Given the description of an element on the screen output the (x, y) to click on. 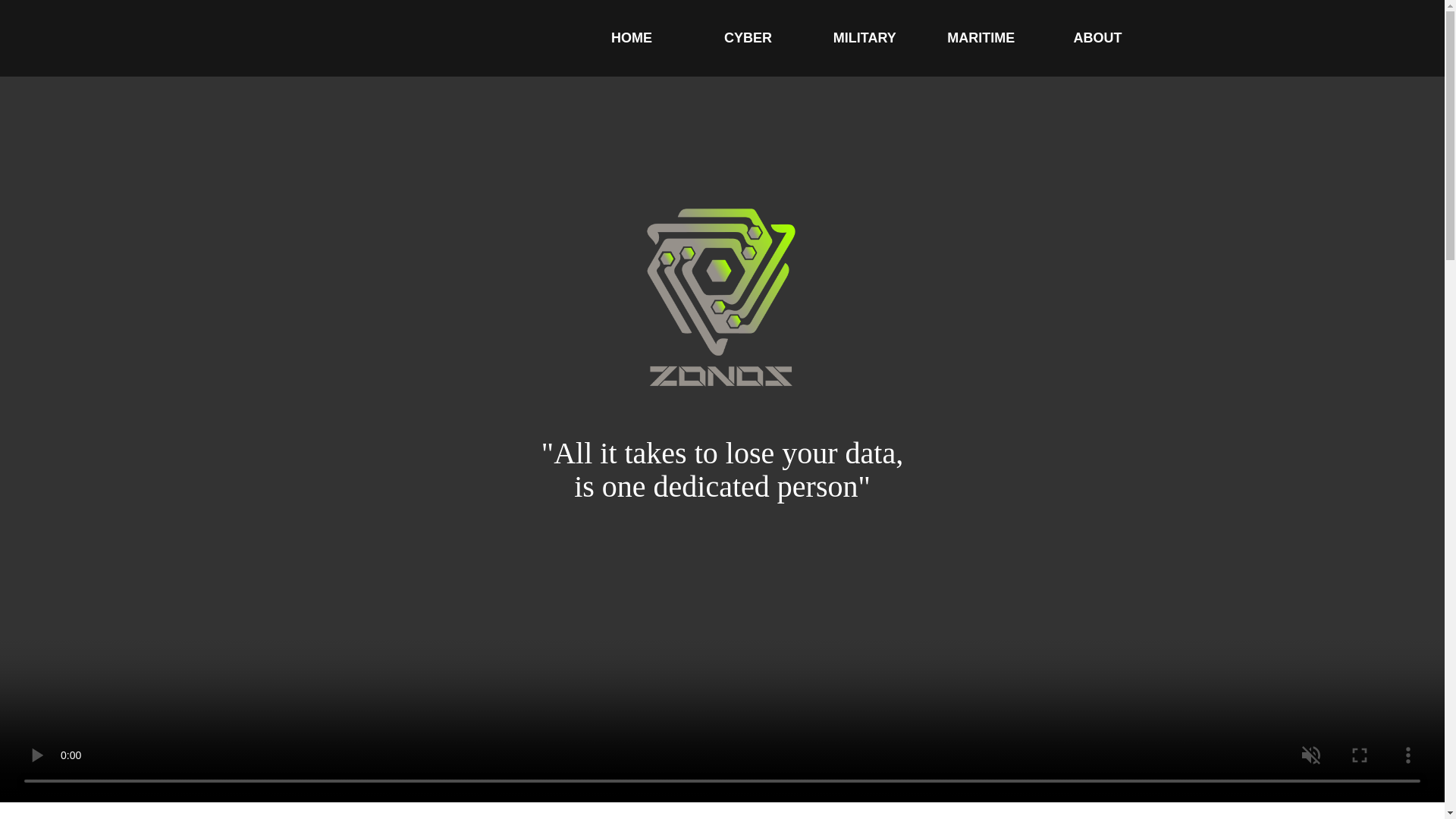
MARITIME (981, 38)
ABOUT (1097, 38)
CYBER (748, 38)
HOME (631, 38)
MILITARY (864, 38)
